Given the description of an element on the screen output the (x, y) to click on. 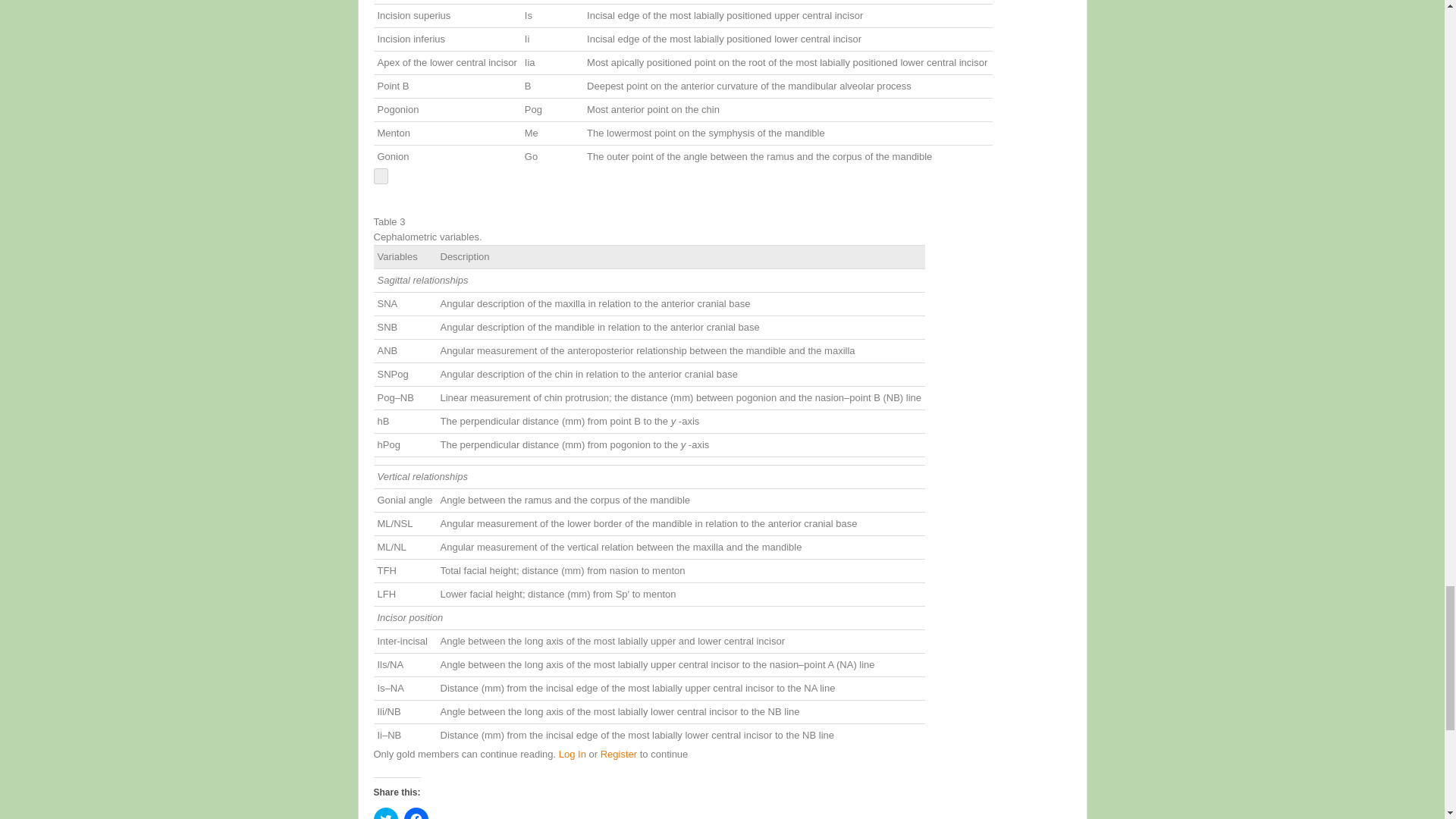
Click to share on Twitter (384, 813)
Click to share on Facebook (415, 813)
